Given the description of an element on the screen output the (x, y) to click on. 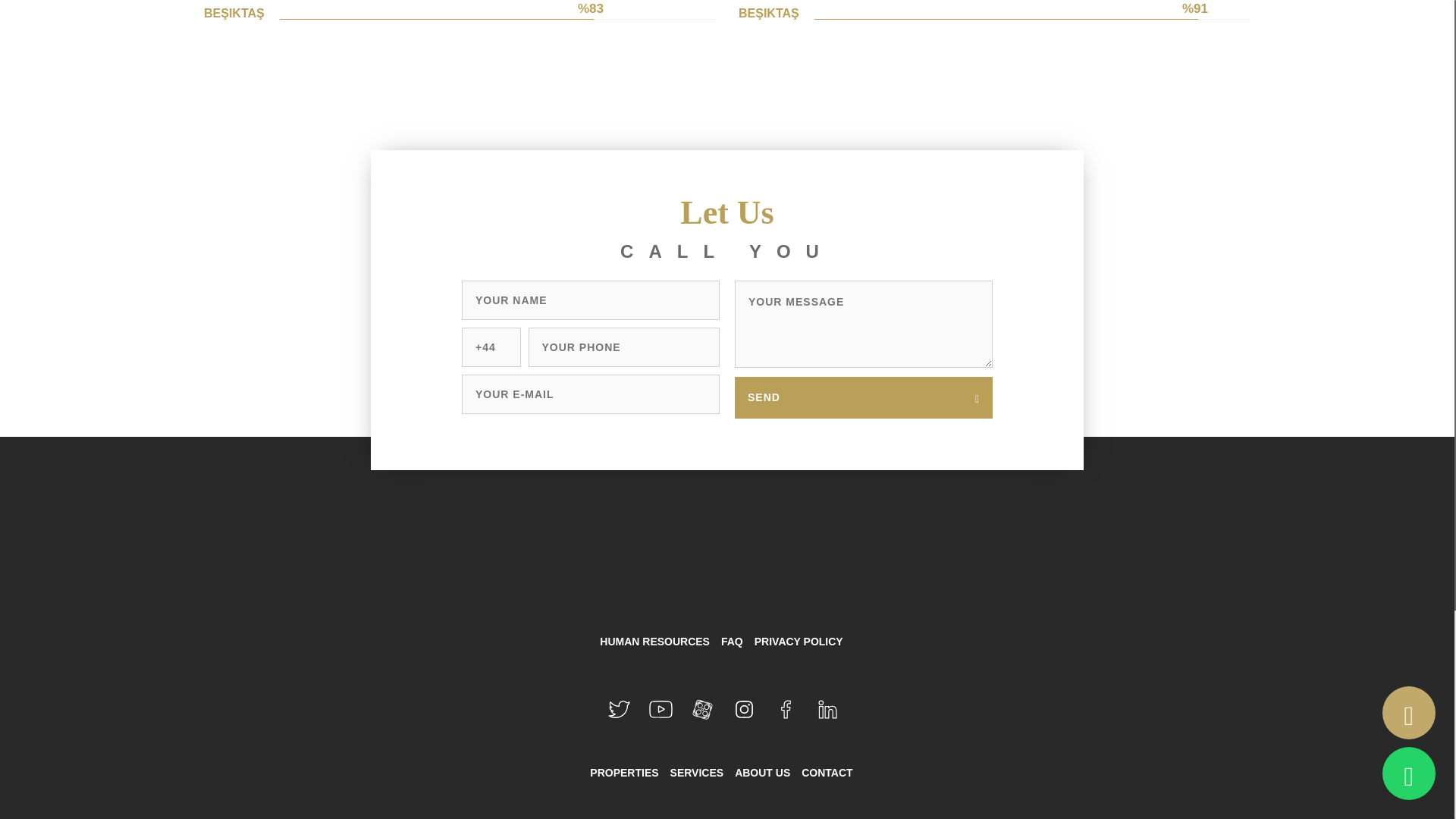
SEND (863, 397)
FAQ (731, 641)
HUMAN RESOURCES (654, 641)
